Given the description of an element on the screen output the (x, y) to click on. 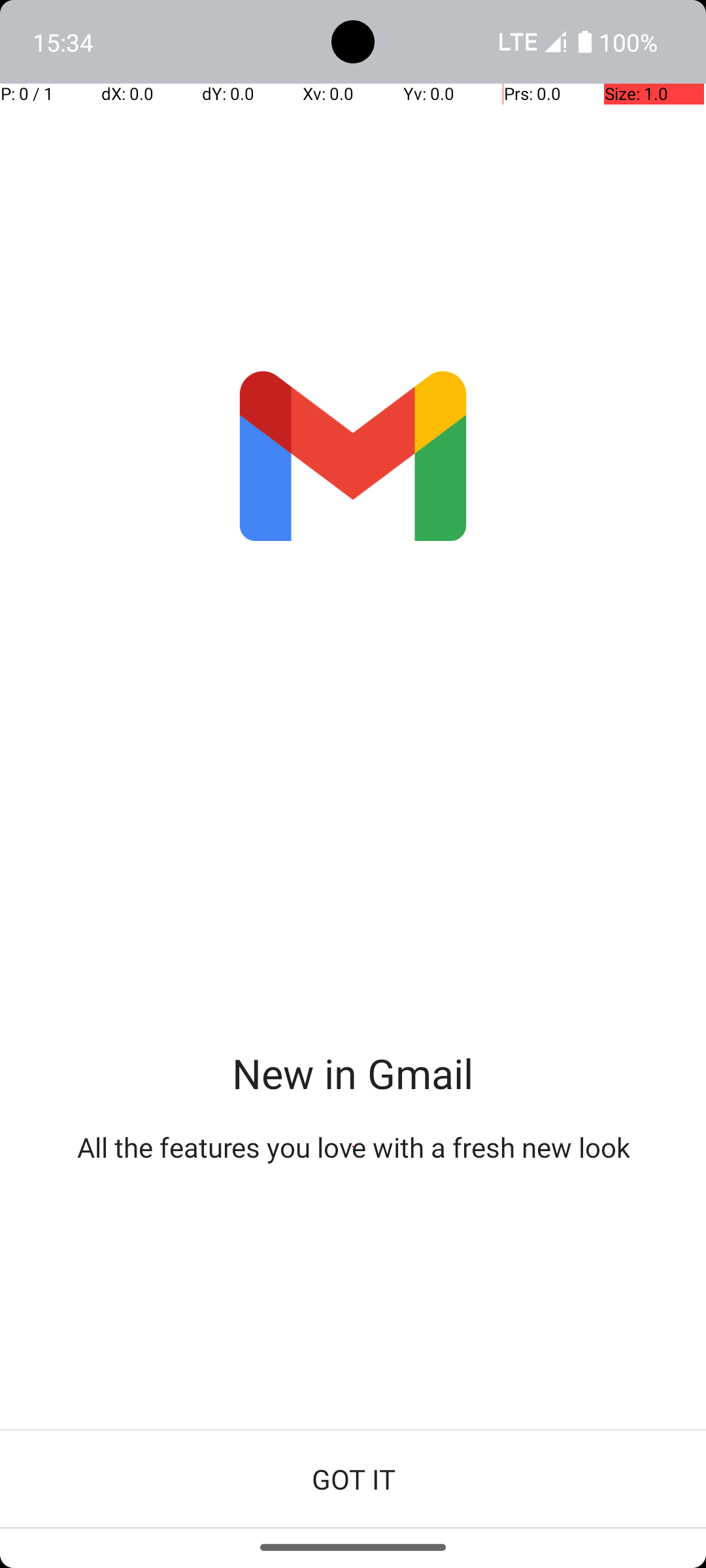
GOT IT Element type: android.widget.TextView (353, 1478)
New in Gmail Element type: android.widget.TextView (352, 1072)
All the features you love with a fresh new look Element type: android.widget.TextView (352, 1146)
